Given the description of an element on the screen output the (x, y) to click on. 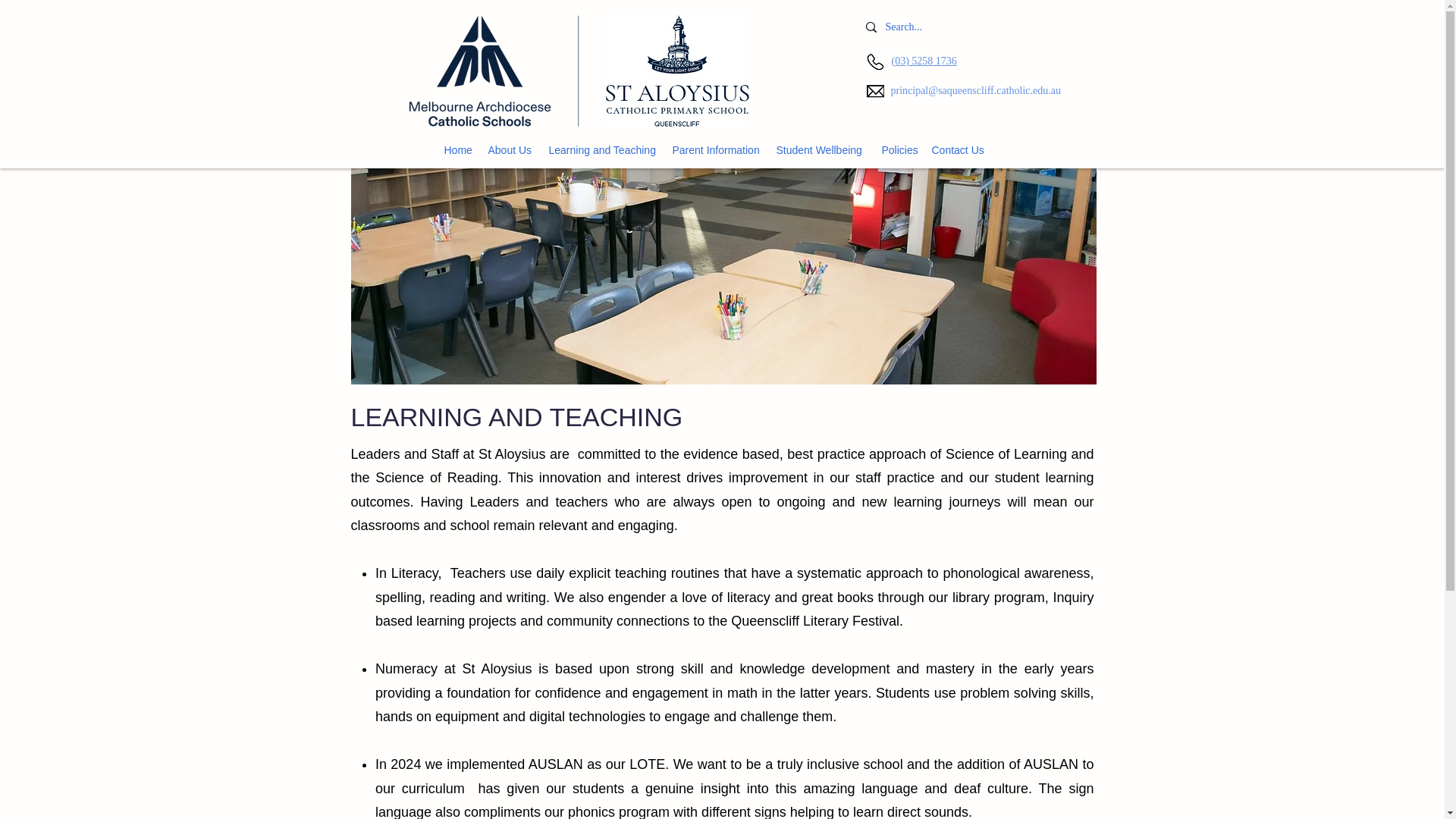
Policies (898, 149)
Student Wellbeing (821, 149)
Contact Us (957, 149)
Home (458, 149)
Learning and Teaching (603, 149)
Parent Information (715, 149)
About Us (510, 149)
